Given the description of an element on the screen output the (x, y) to click on. 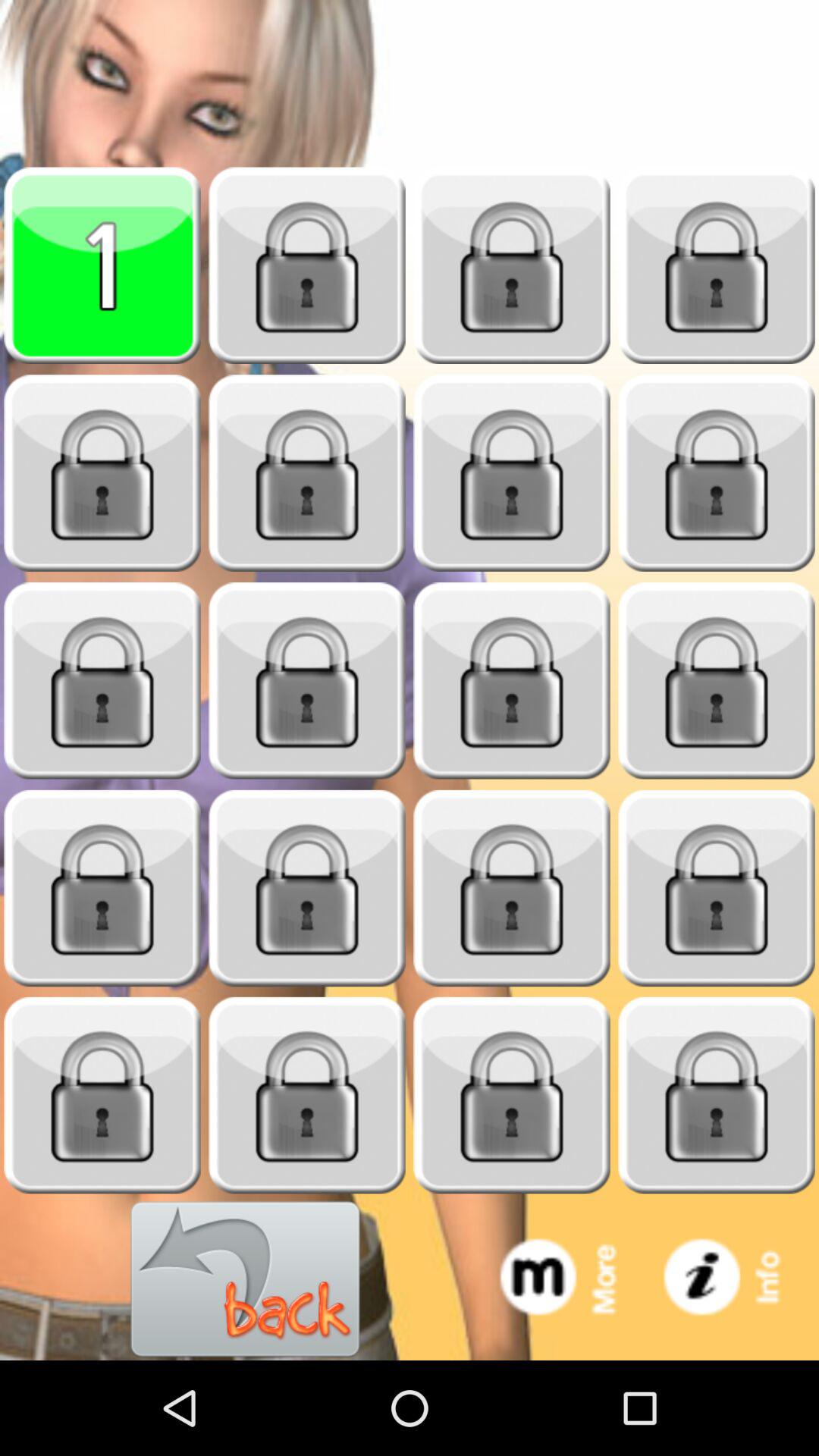
open to know (306, 1094)
